Given the description of an element on the screen output the (x, y) to click on. 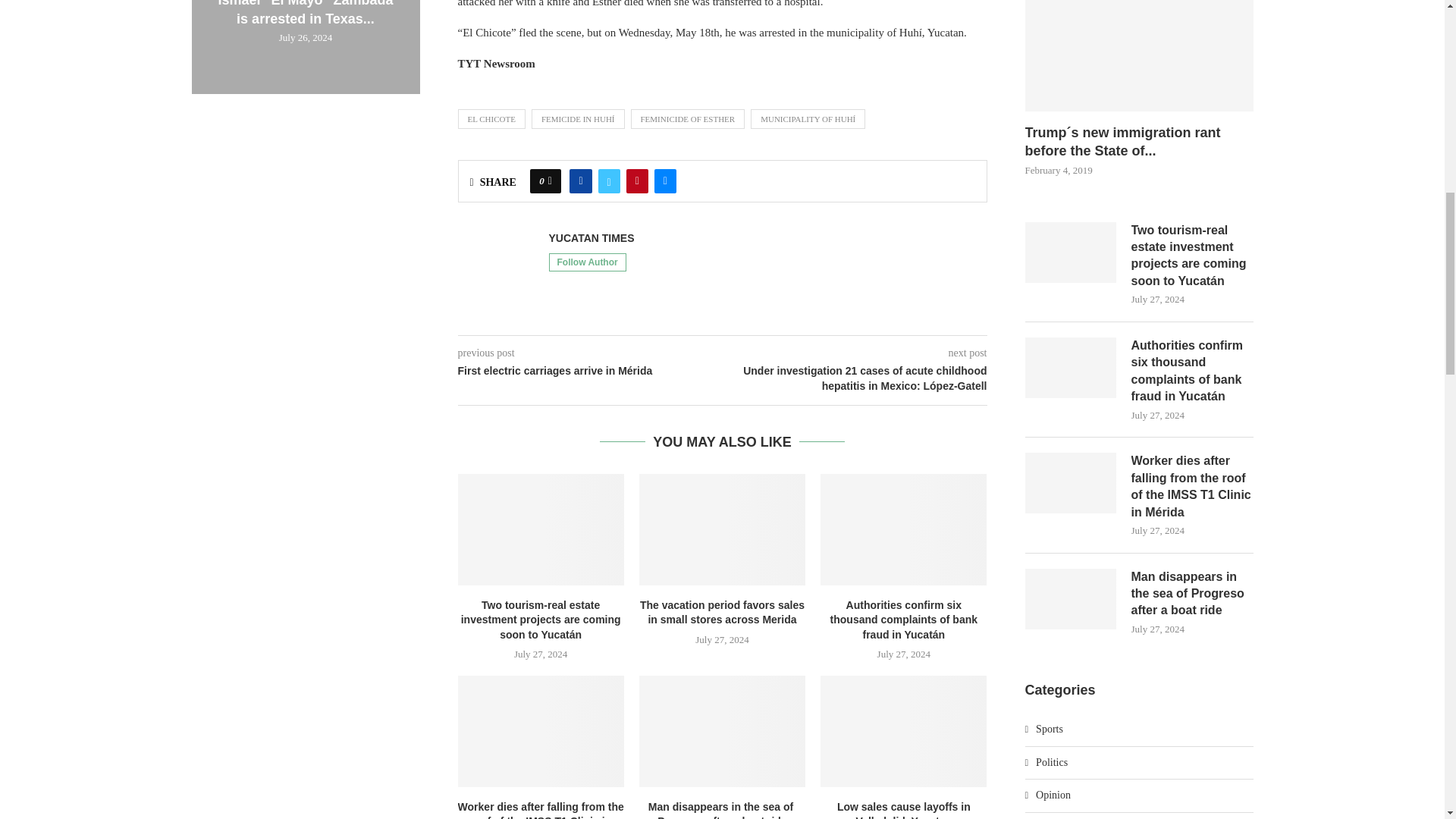
Author Yucatan Times (591, 237)
Like (549, 180)
Low sales cause layoffs in Valladolid, Yucatan (904, 730)
